Given the description of an element on the screen output the (x, y) to click on. 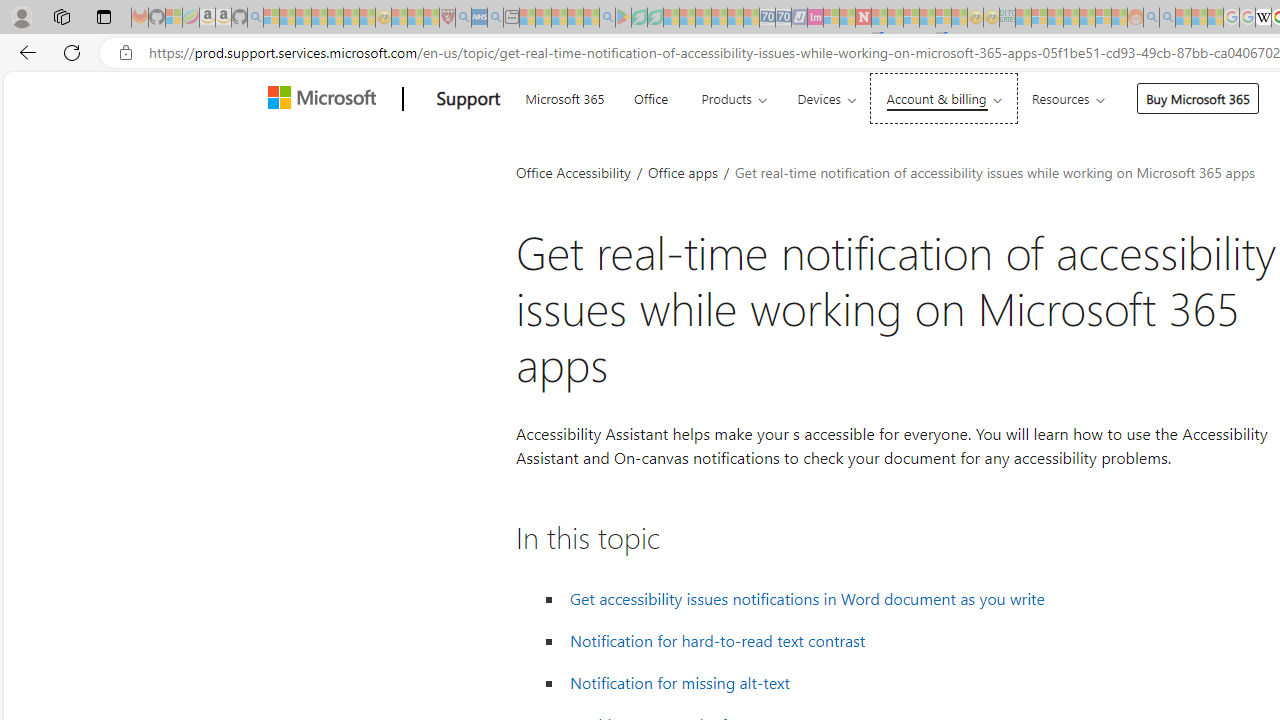
DITOGAMES AG Imprint - Sleeping (1007, 17)
Trusted Community Engagement and Contributions | Guidelines (879, 17)
Pets - MSN - Sleeping (575, 17)
Recipes - MSN - Sleeping (399, 17)
list of asthma inhalers uk - Search - Sleeping (463, 17)
